Given the description of an element on the screen output the (x, y) to click on. 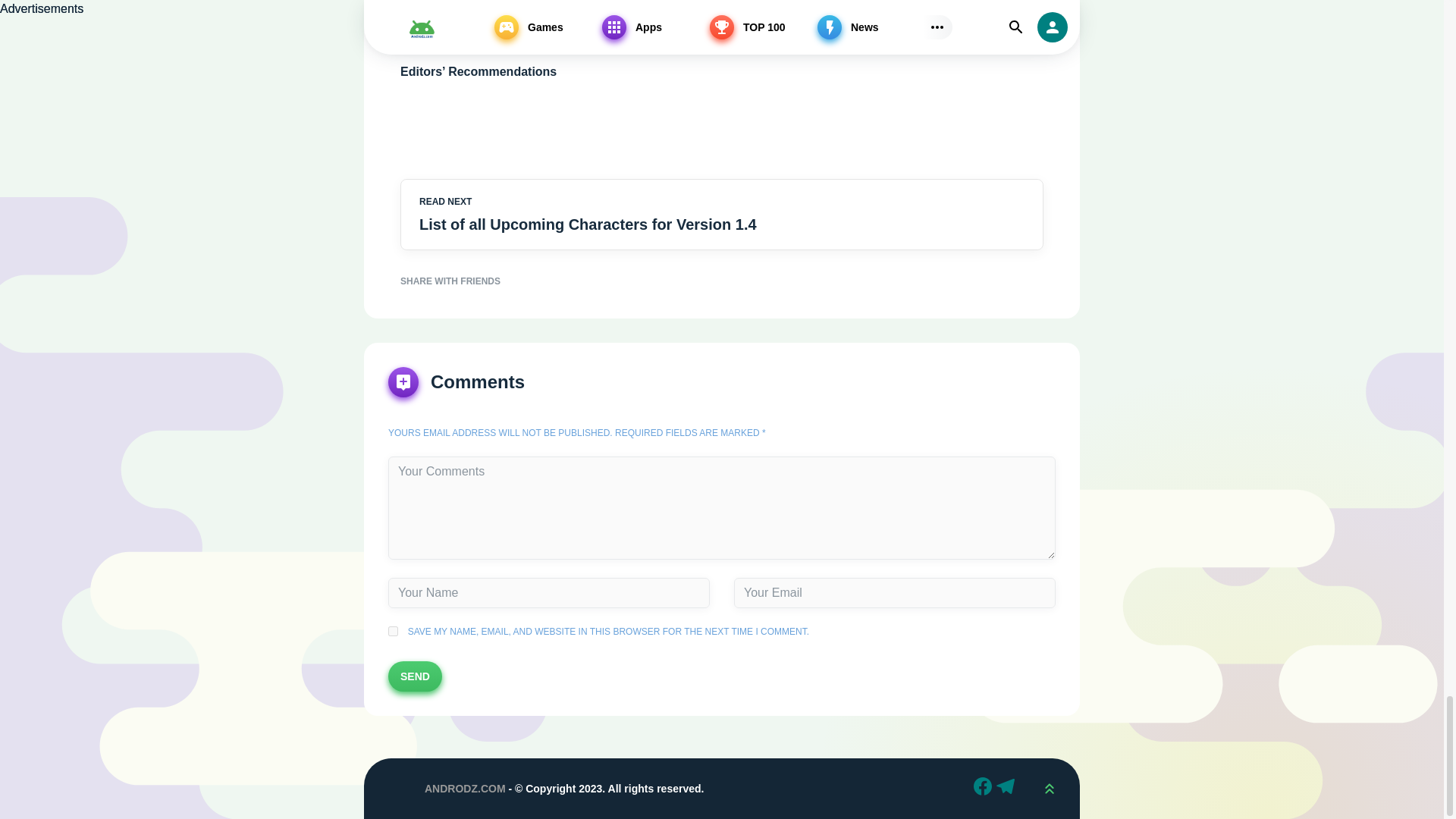
yes (392, 631)
Share with friends (721, 281)
androdz.com (393, 788)
Scroll up (1048, 788)
SEND (415, 675)
Follow androdz.com on Telegram (1007, 788)
androdz.com (393, 788)
ANDRODZ.COM (465, 788)
androdz.com (393, 788)
List of all Upcoming Characters for Version 1.4 (637, 224)
